Given the description of an element on the screen output the (x, y) to click on. 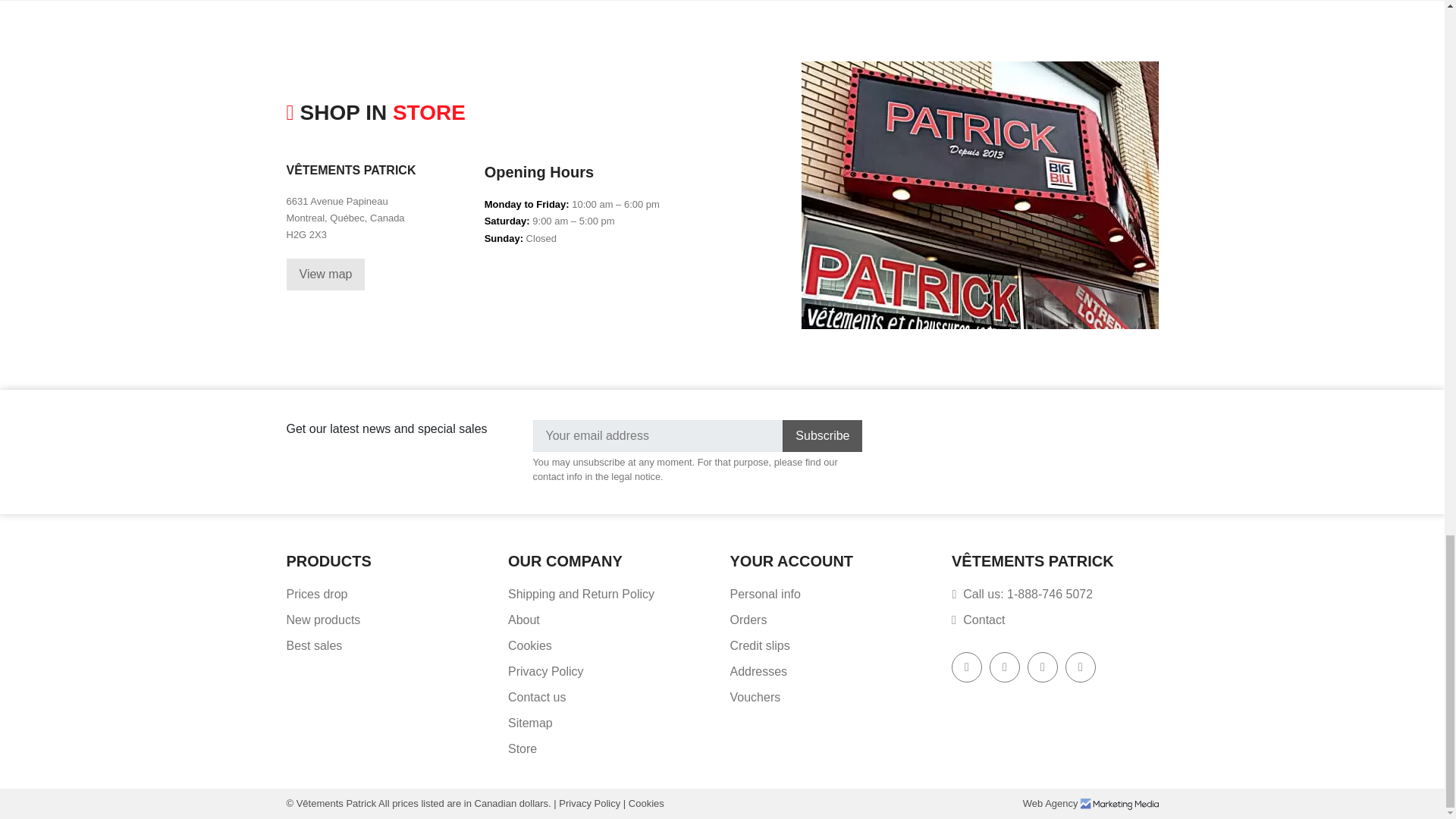
Our special products (316, 594)
Use our form to contact us (537, 697)
Our best sales (314, 645)
Subscribe (822, 436)
Lost ? Find what your are looking for (530, 722)
Credit slips (759, 645)
Addresses (758, 671)
Orders (748, 619)
Our new products (323, 619)
Our general terms of delivery (580, 594)
Personal info (764, 594)
